Given the description of an element on the screen output the (x, y) to click on. 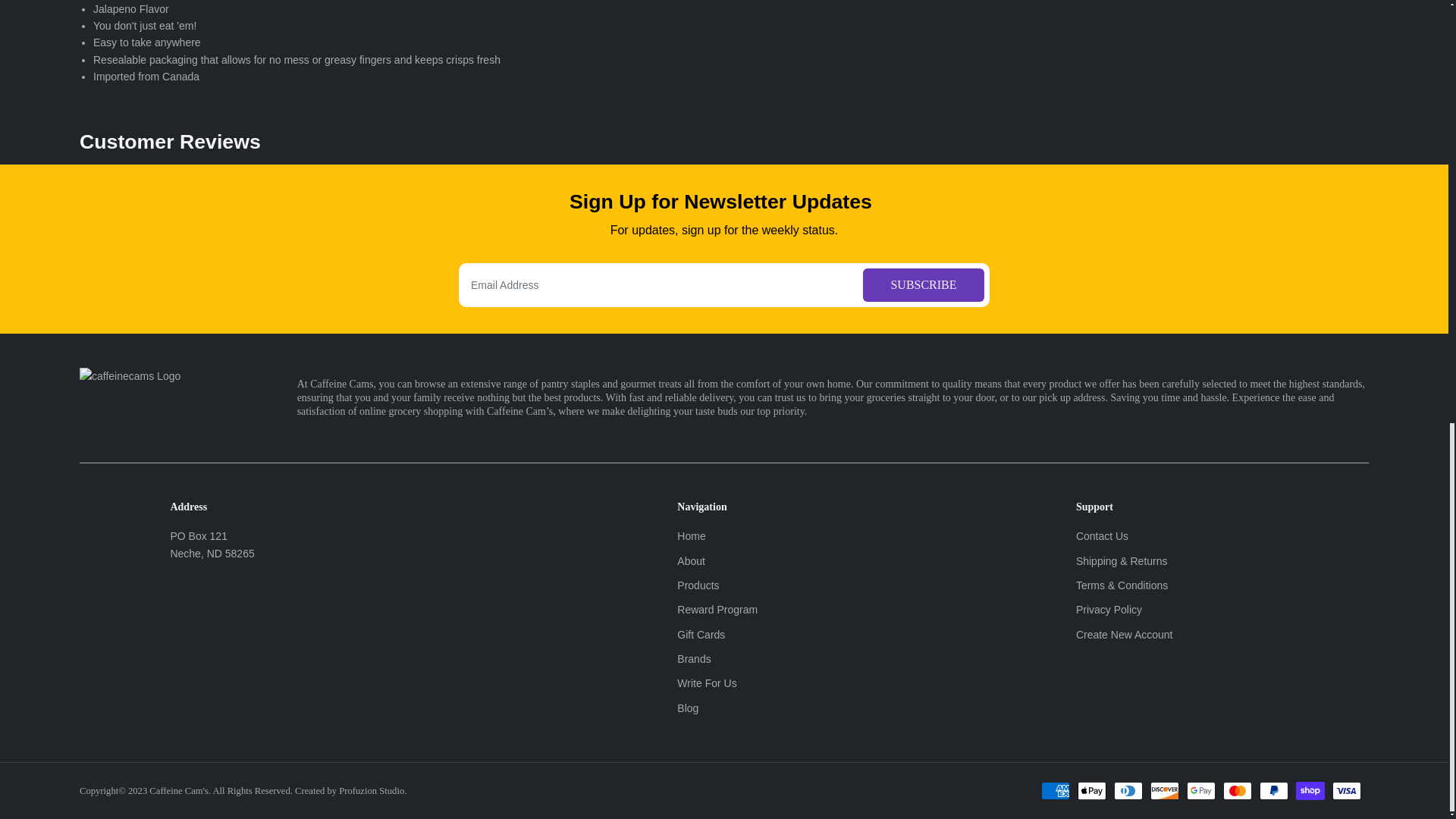
Discover (1164, 791)
Diners Club (1127, 791)
American Express (1055, 791)
Profuzion Studio (371, 790)
Apple Pay (1091, 791)
